Given the description of an element on the screen output the (x, y) to click on. 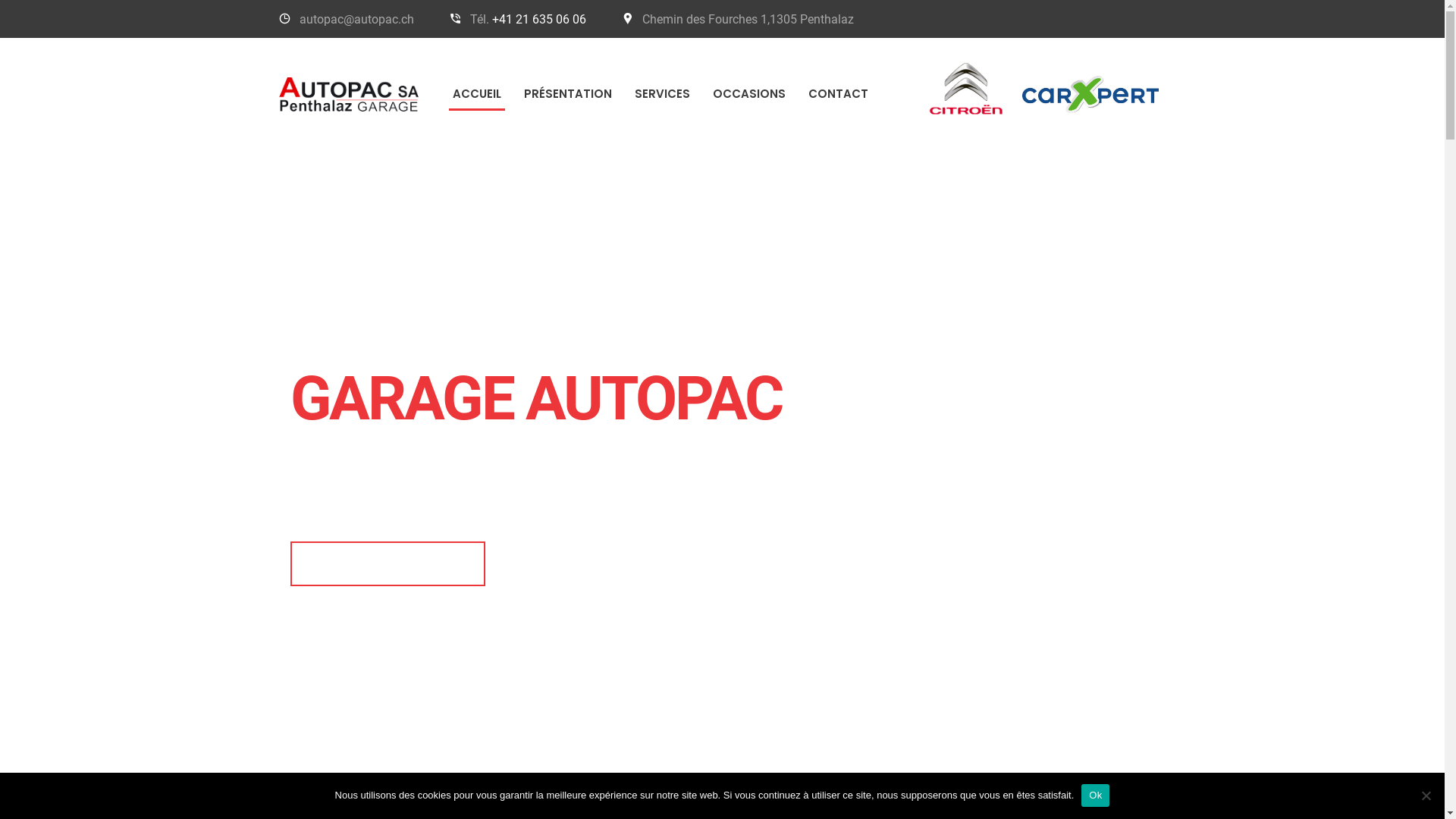
OCCASIONS Element type: text (748, 93)
SERVICES Element type: text (662, 93)
ACCUEIL Element type: text (476, 93)
CONTACT Element type: text (837, 93)
Chemin des Fourches 1,1305 Penthalaz Element type: text (747, 19)
Previous Element type: text (48, 444)
Ok Element type: text (1095, 795)
Next Element type: text (1394, 444)
autopac@autopac.ch Element type: text (355, 19)
+41 21 635 06 06 Element type: text (539, 19)
